Given the description of an element on the screen output the (x, y) to click on. 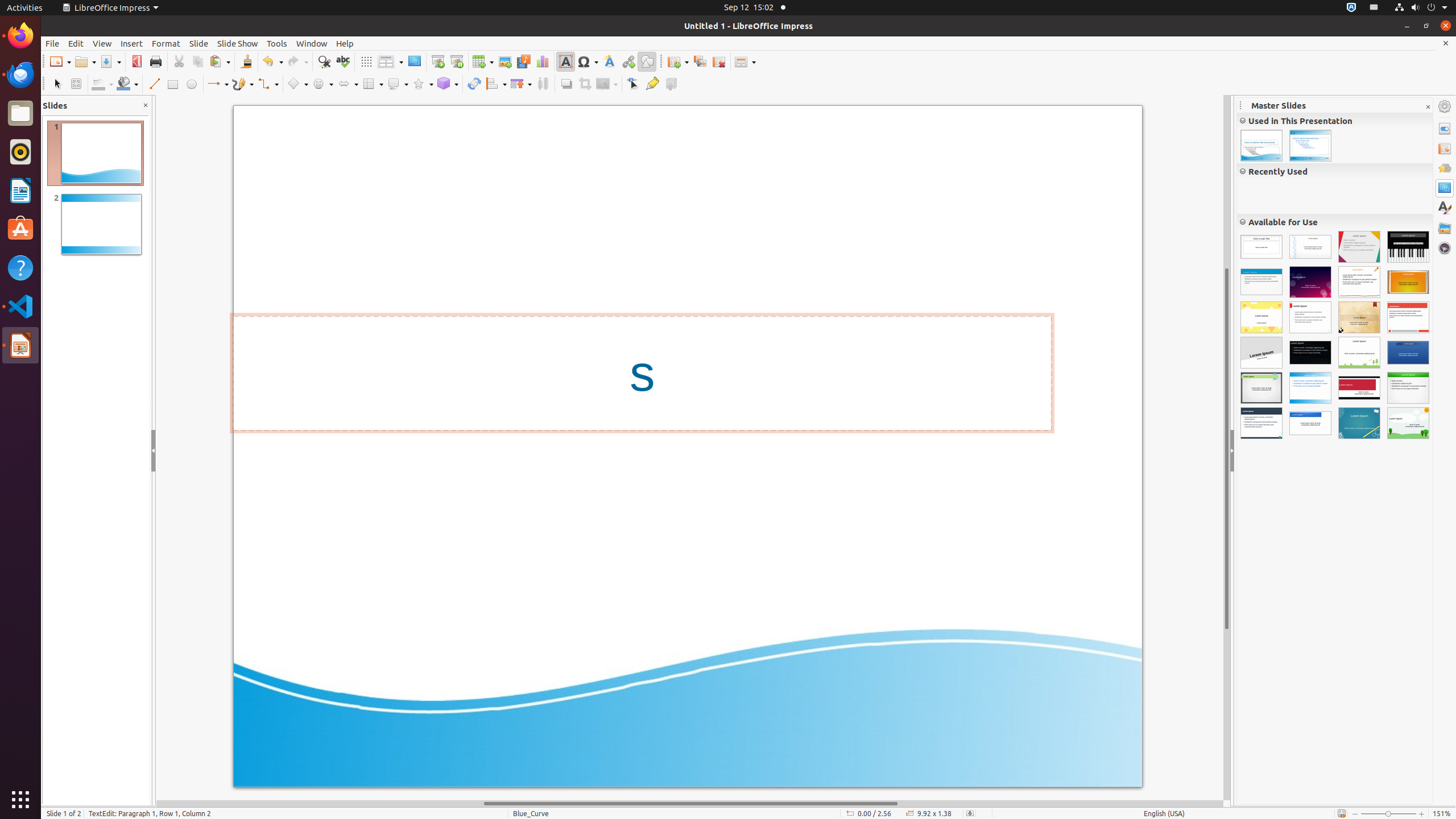
Gallery Element type: radio-button (1444, 227)
Midnightblue Element type: list-item (1261, 422)
Show Applications Element type: toggle-button (20, 799)
3D Objects Element type: push-button (447, 83)
